Given the description of an element on the screen output the (x, y) to click on. 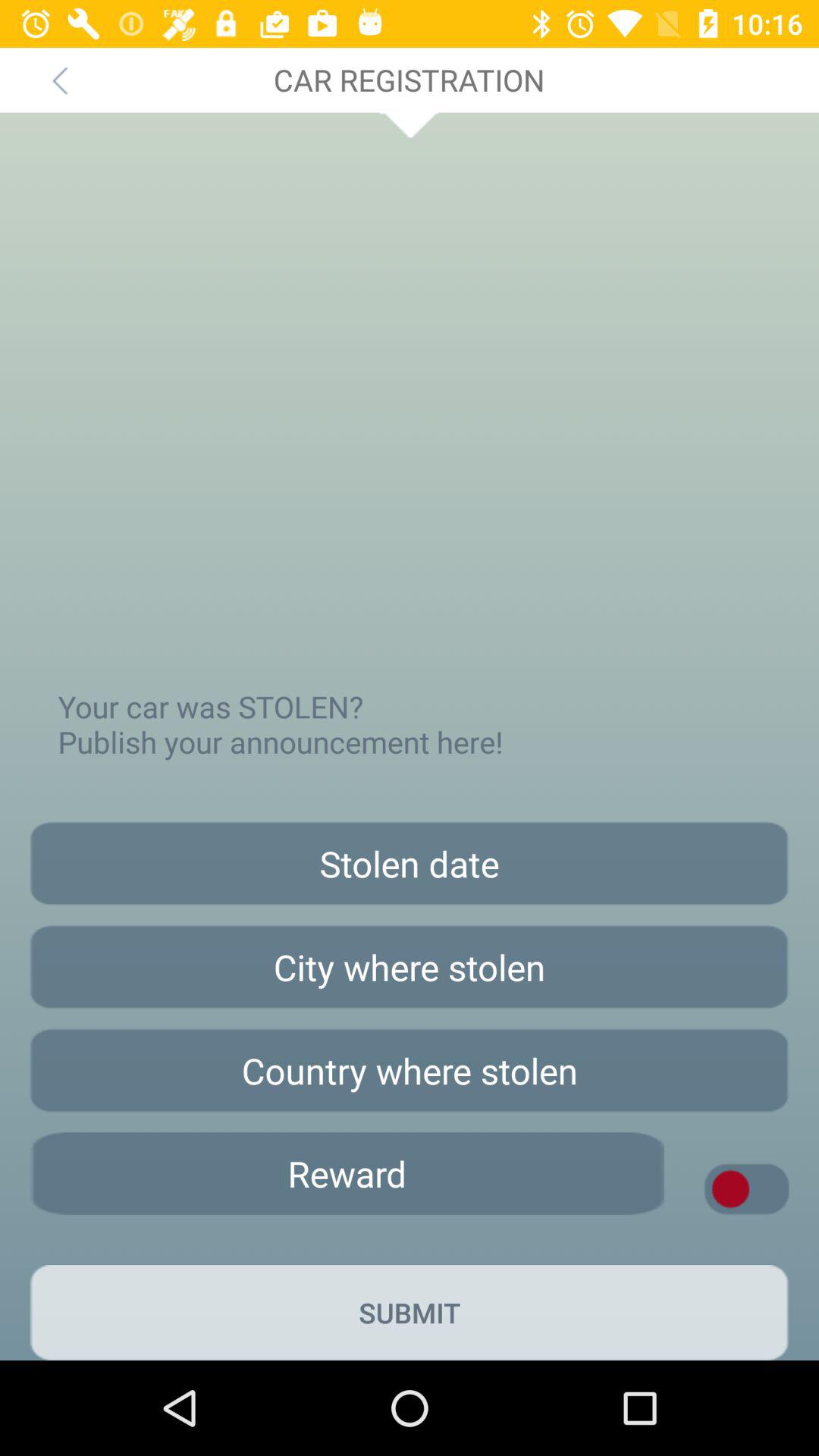
swipe to submit (409, 1312)
